Given the description of an element on the screen output the (x, y) to click on. 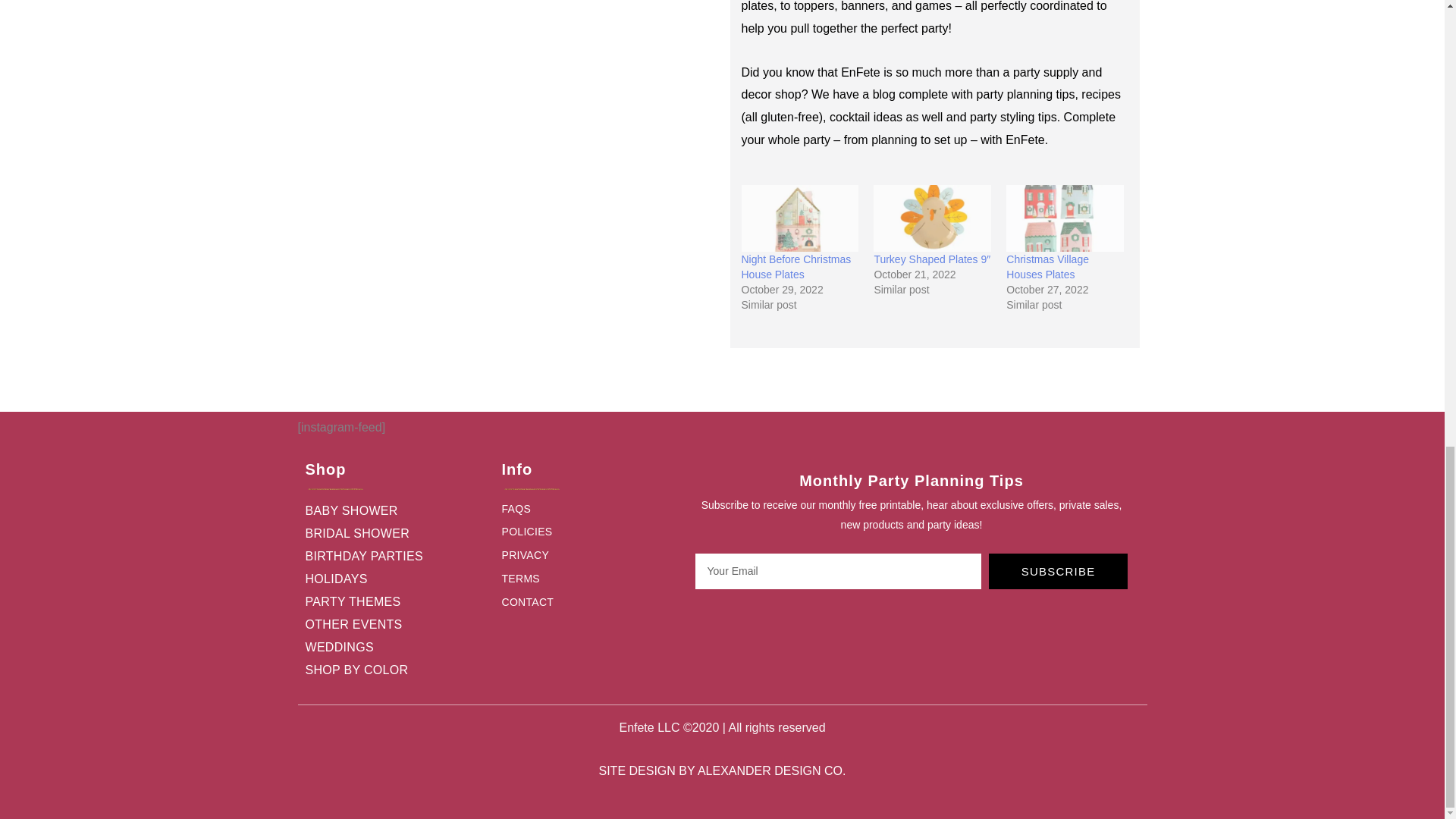
gold line 81px-04 (334, 489)
Night Before Christmas House Plates (796, 266)
Christmas Village Houses Plates (1047, 266)
gold line 81px-04 (532, 489)
Night Before Christmas House Plates (800, 218)
Christmas Village Houses Plates (1065, 218)
